Given the description of an element on the screen output the (x, y) to click on. 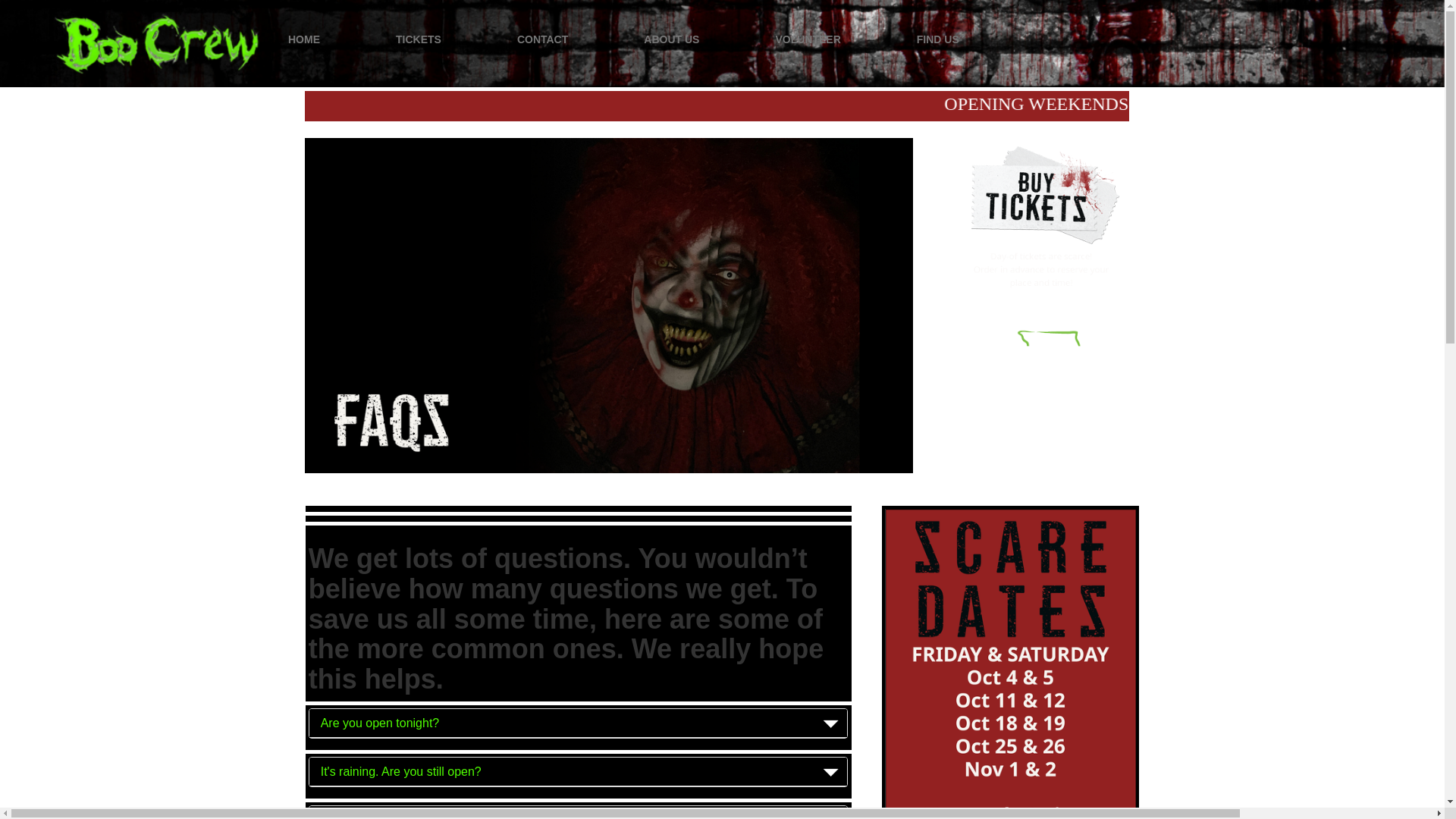
VOLUNTEER (806, 38)
Are you open tonight? (577, 723)
CONTACT (542, 38)
FIND US (938, 38)
HOME (304, 38)
ABOUT US (670, 38)
TICKETS (418, 38)
It's raining. Are you still open? (577, 771)
